Given the description of an element on the screen output the (x, y) to click on. 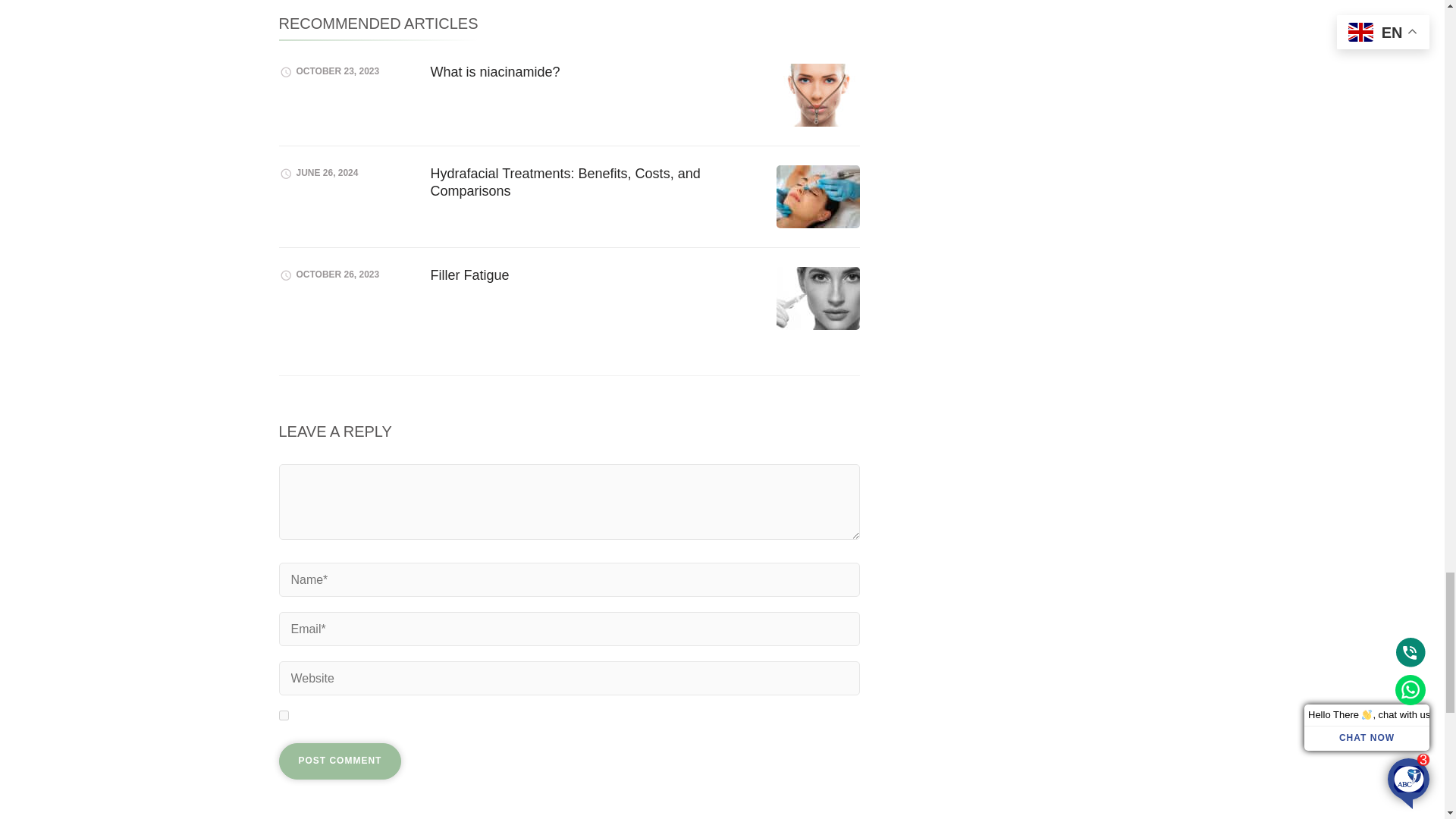
Post Comment (340, 760)
1 (283, 715)
